Given the description of an element on the screen output the (x, y) to click on. 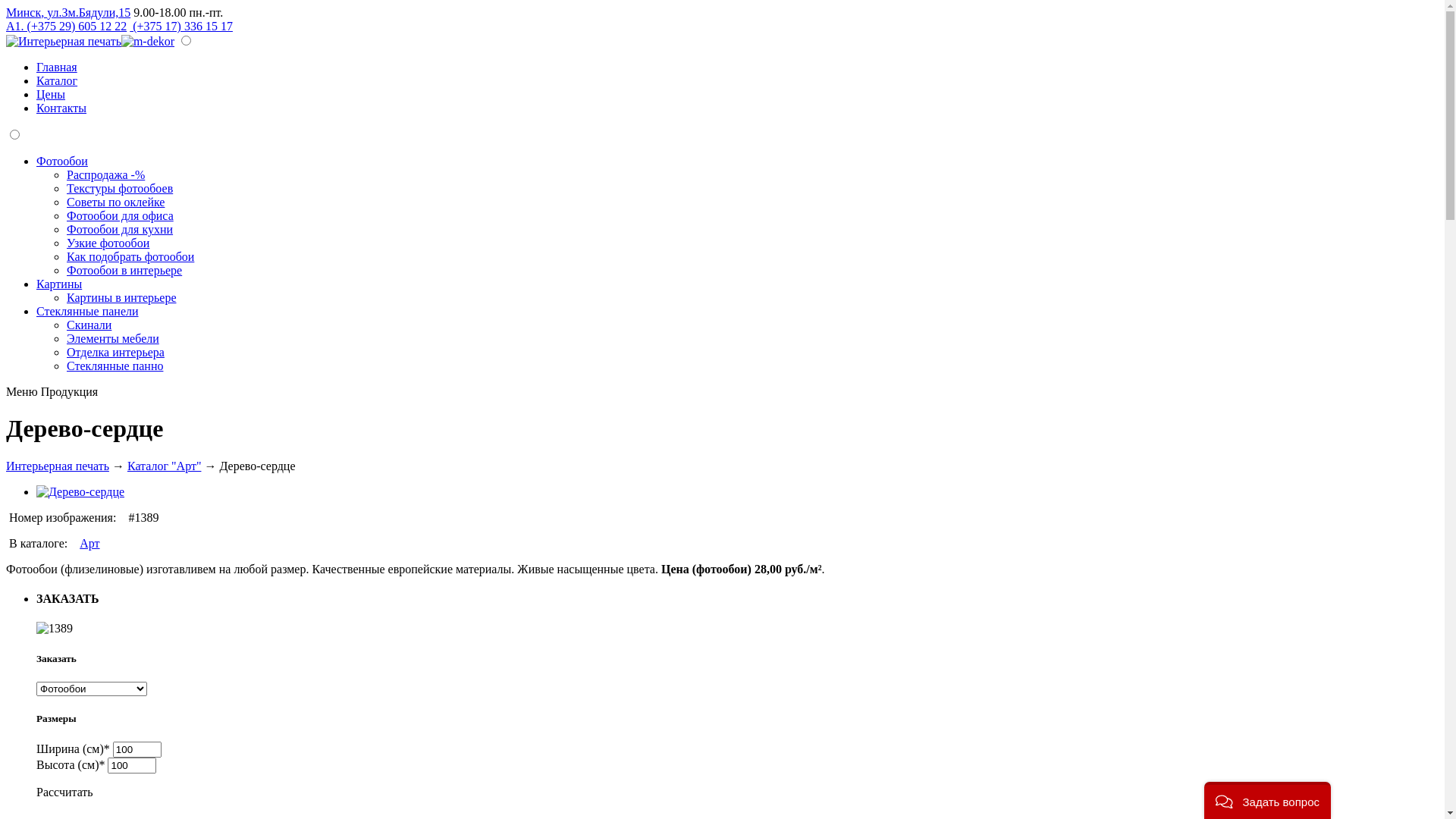
 (+375 17) 336 15 17 Element type: text (180, 25)
A1. (+375 29) 605 12 22 Element type: text (66, 25)
